Given the description of an element on the screen output the (x, y) to click on. 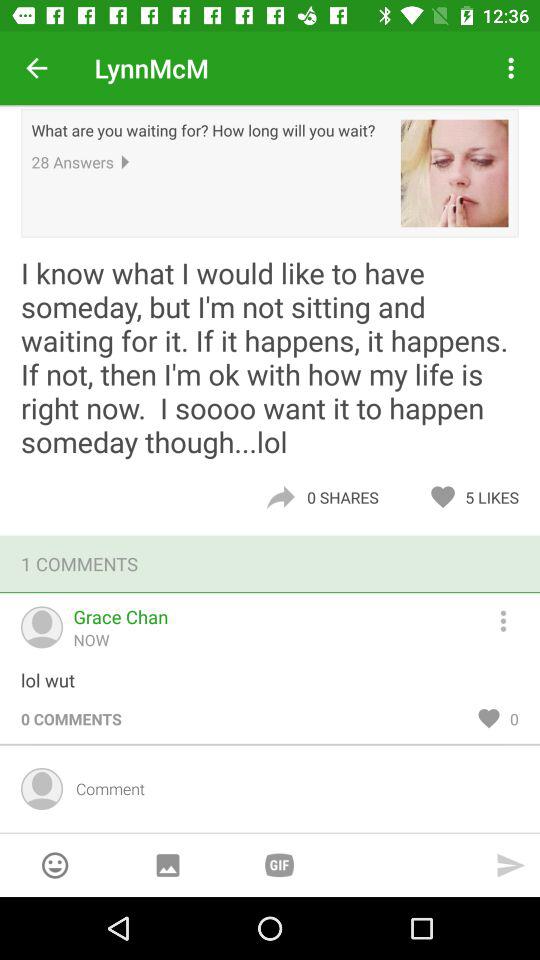
send message (511, 865)
